Given the description of an element on the screen output the (x, y) to click on. 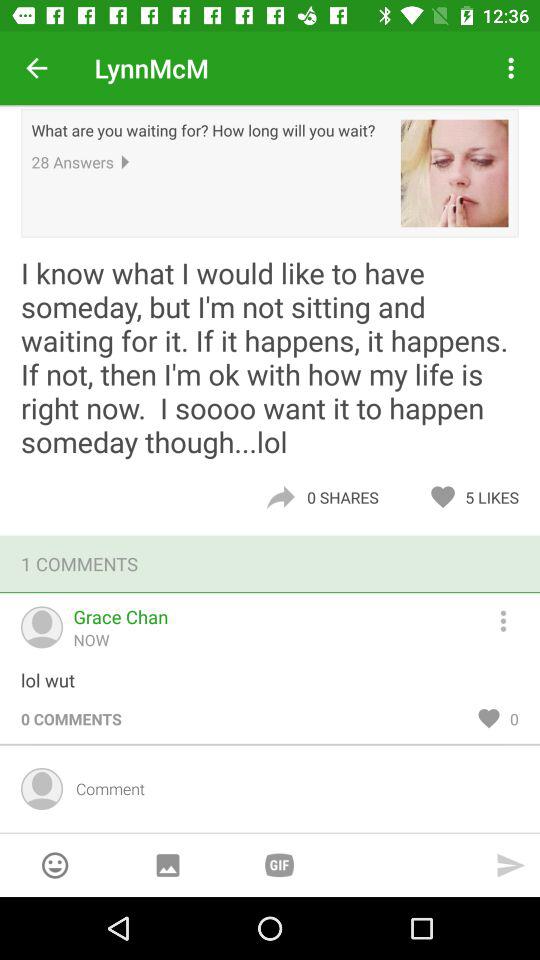
send message (511, 865)
